Given the description of an element on the screen output the (x, y) to click on. 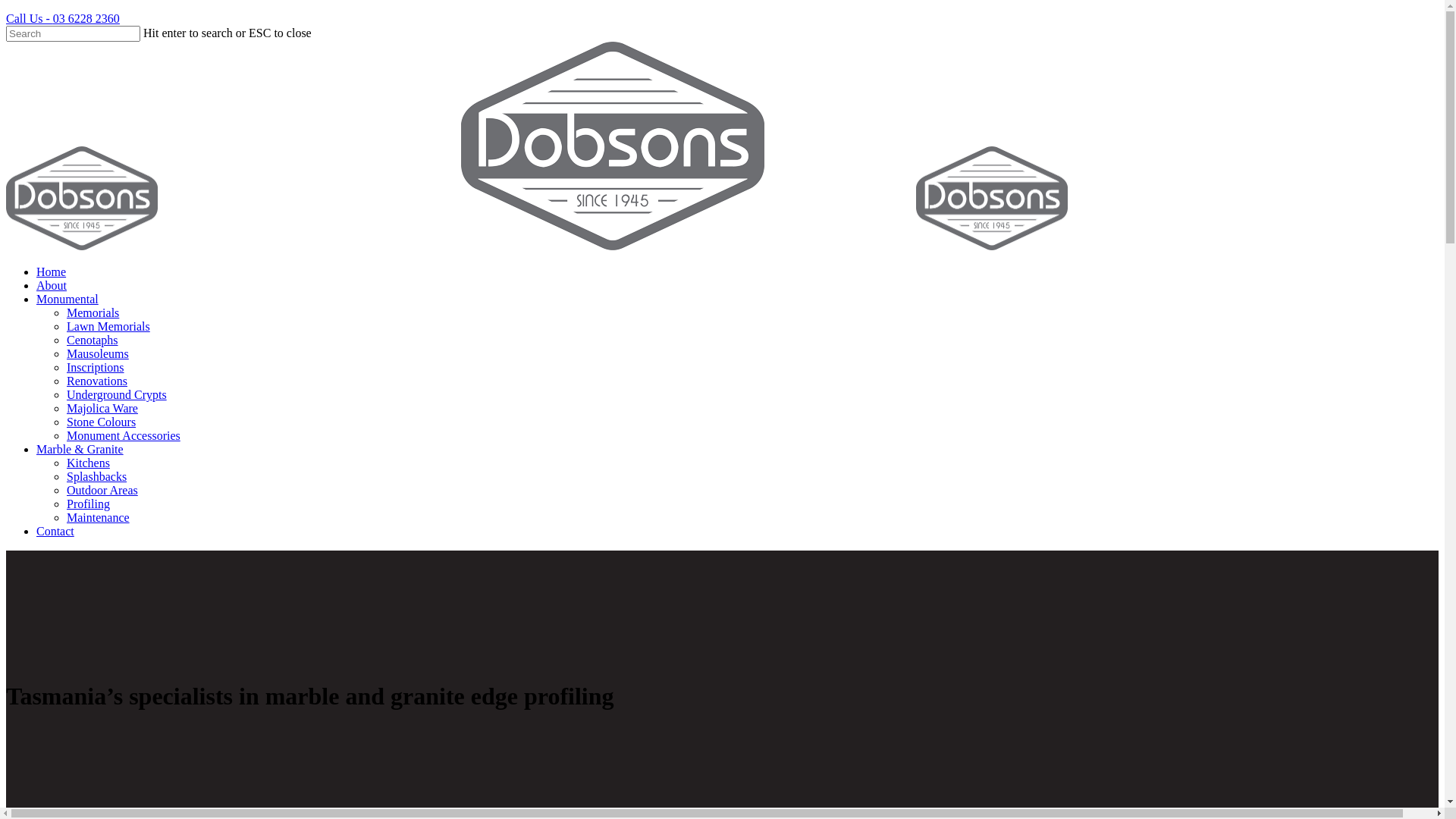
Lawn Memorials Element type: text (108, 326)
Profiling Element type: text (87, 503)
About Element type: text (51, 285)
Mausoleums Element type: text (97, 353)
Splashbacks Element type: text (96, 476)
Monumental Element type: text (67, 298)
Underground Crypts Element type: text (116, 394)
Monument Accessories Element type: text (123, 435)
Outdoor Areas Element type: text (102, 489)
Renovations Element type: text (96, 380)
Kitchens Element type: text (87, 462)
Marble & Granite Element type: text (79, 448)
Home Element type: text (50, 271)
Stone Colours Element type: text (100, 421)
Cenotaphs Element type: text (92, 339)
Majolica Ware Element type: text (102, 407)
Memorials Element type: text (92, 312)
Contact Element type: text (55, 530)
Maintenance Element type: text (97, 517)
Call Us - 03 6228 2360 Element type: text (62, 18)
Inscriptions Element type: text (95, 366)
